Given the description of an element on the screen output the (x, y) to click on. 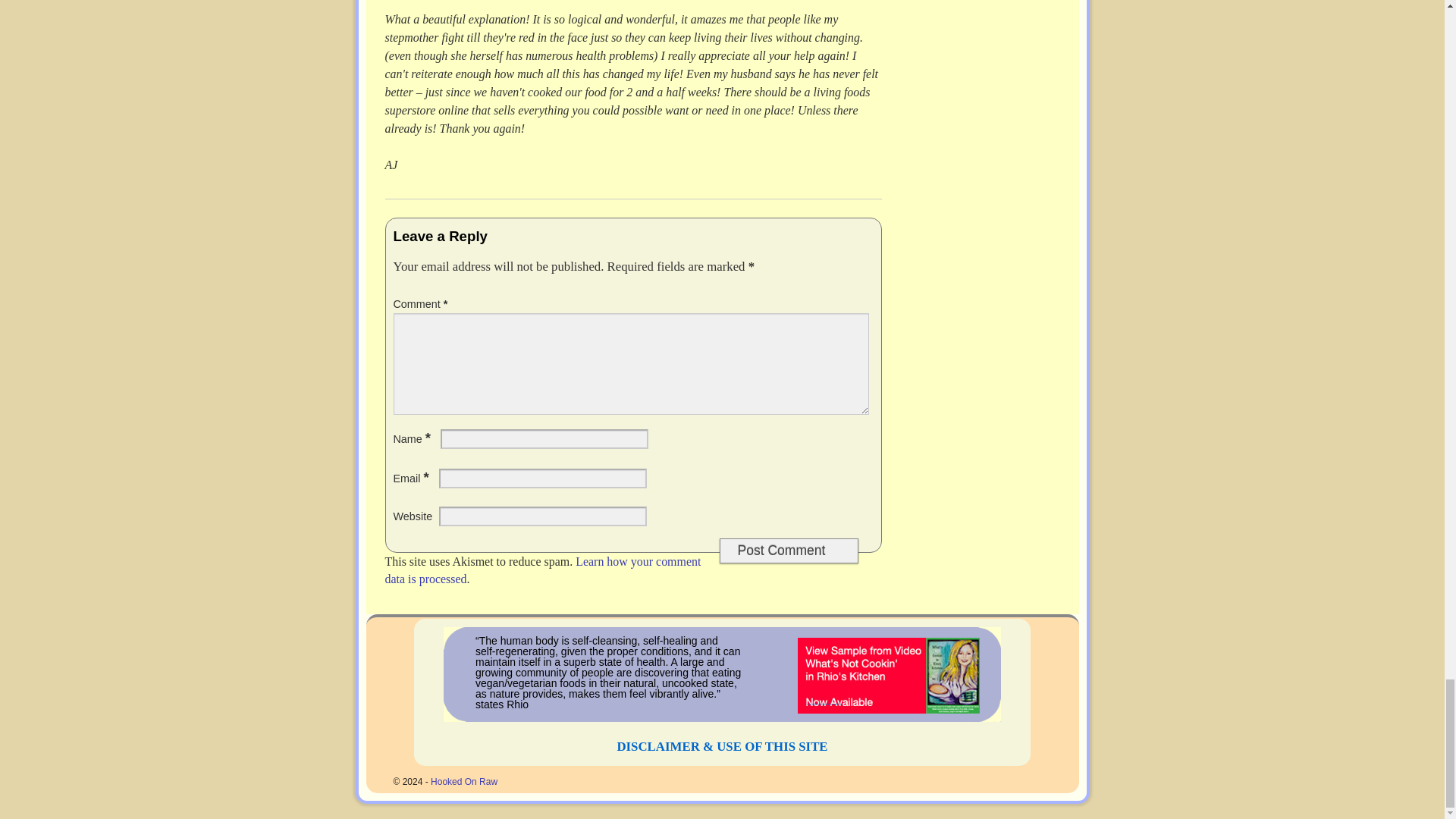
Post Comment (788, 550)
Hooked On Raw (463, 781)
Post Comment (788, 550)
Hooked On Raw (463, 781)
Learn how your comment data is processed (543, 570)
